Given the description of an element on the screen output the (x, y) to click on. 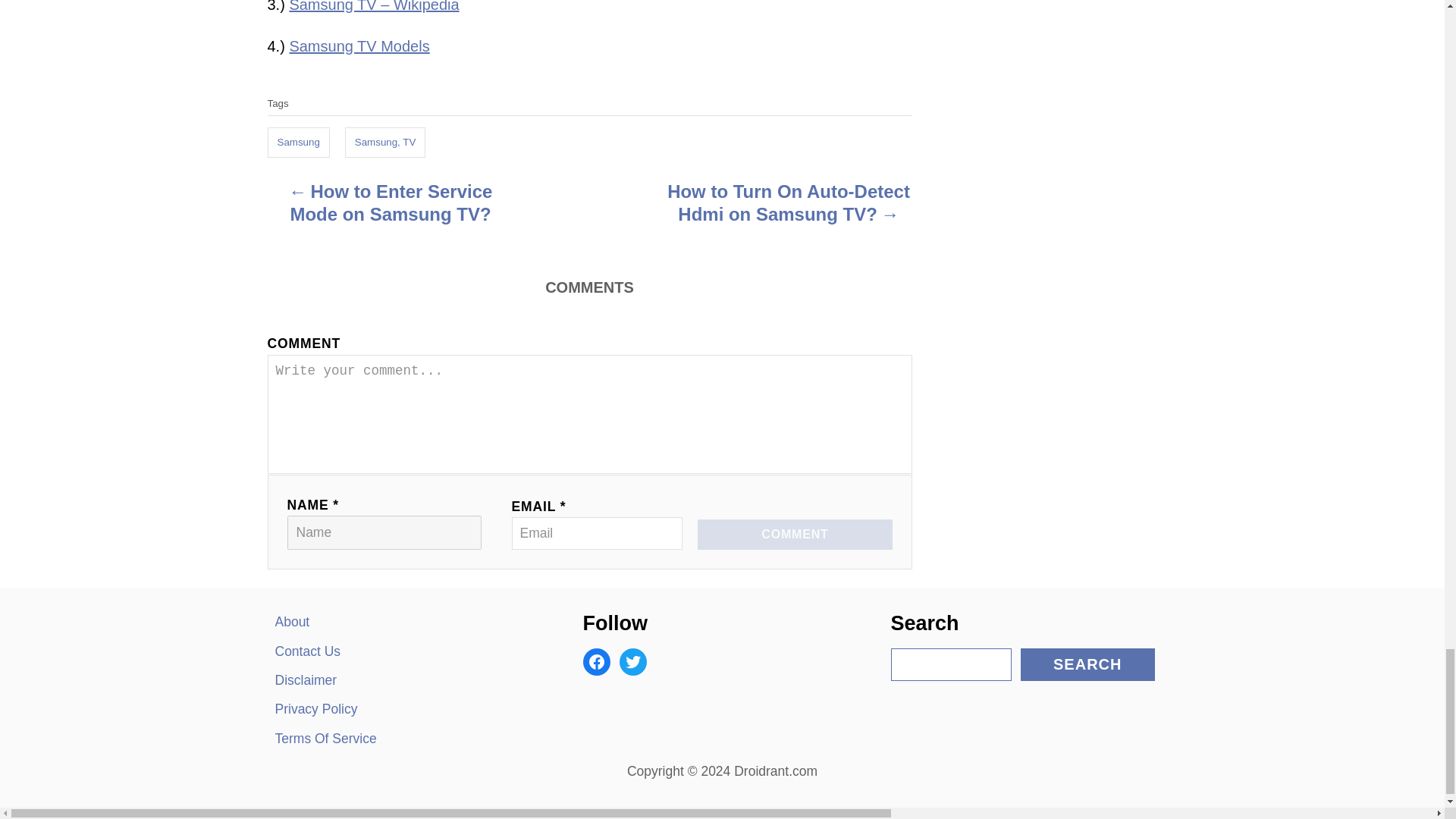
How to Enter Service Mode on Samsung TV? (389, 206)
Facebook (596, 661)
Samsung TV Models (358, 45)
SEARCH (1087, 664)
COMMENT (794, 534)
Contact Us (406, 651)
Disclaimer (406, 679)
Twitter (632, 661)
Terms Of Service (406, 737)
About (406, 621)
Samsung, TV (385, 142)
Samsung (297, 142)
How to Turn On Auto-Detect Hdmi on Samsung TV? (788, 206)
Privacy Policy (406, 708)
